Given the description of an element on the screen output the (x, y) to click on. 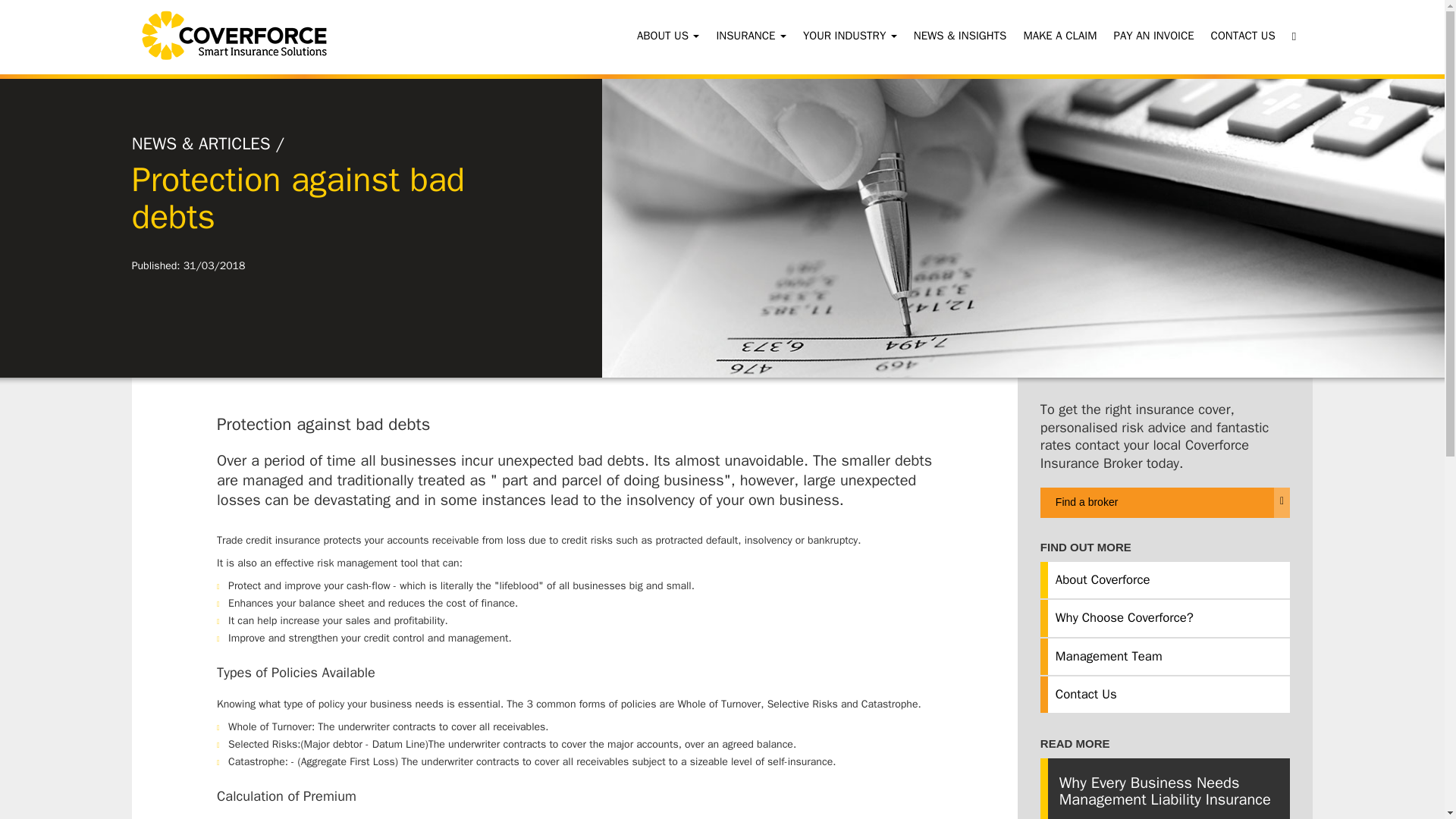
ABOUT US  (665, 35)
INSURANCE  (747, 35)
